Given the description of an element on the screen output the (x, y) to click on. 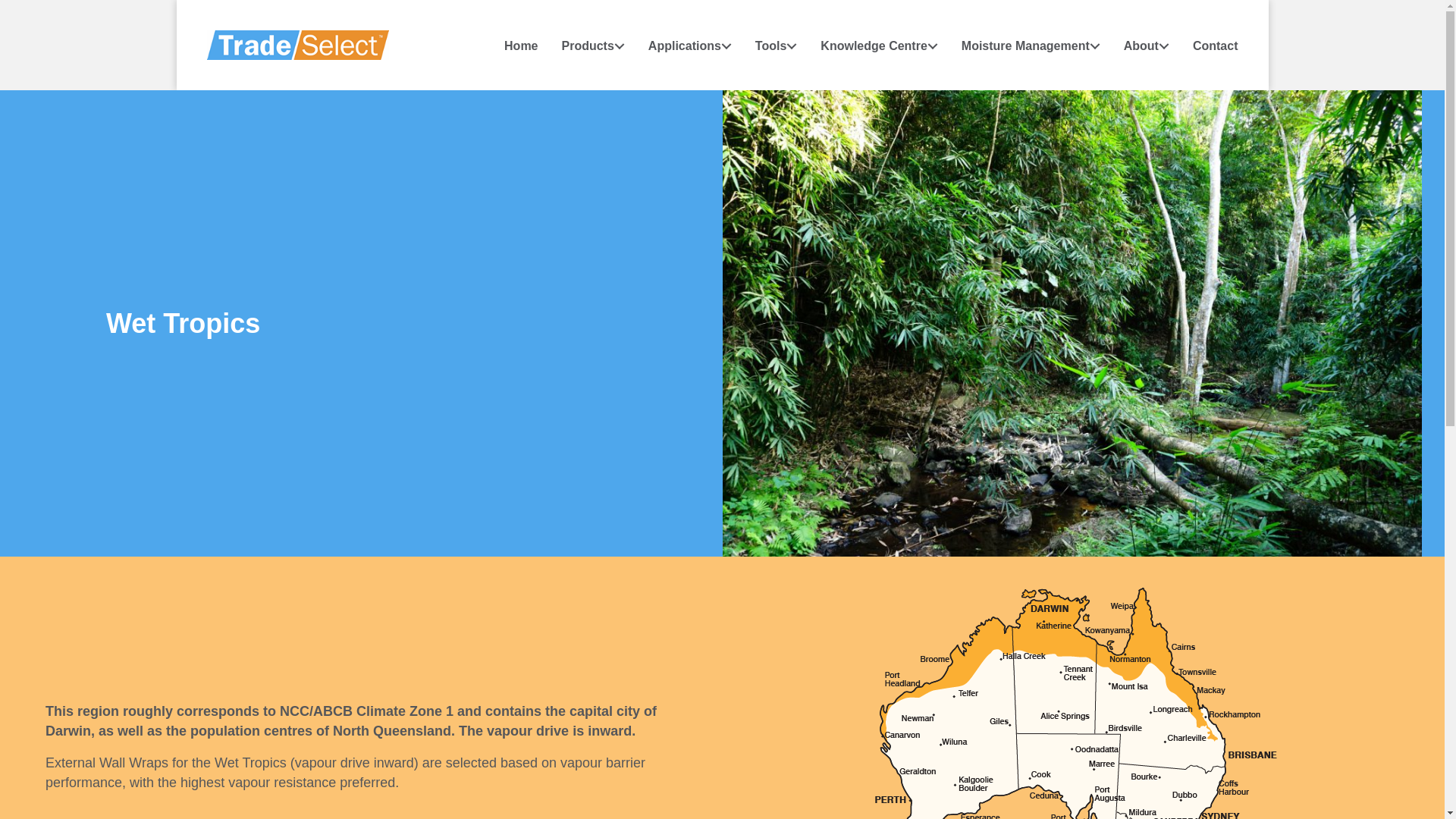
Products (581, 45)
Home (509, 45)
Trade Select (297, 44)
WET-TROPICS-MAP-LRG (1075, 703)
